Given the description of an element on the screen output the (x, y) to click on. 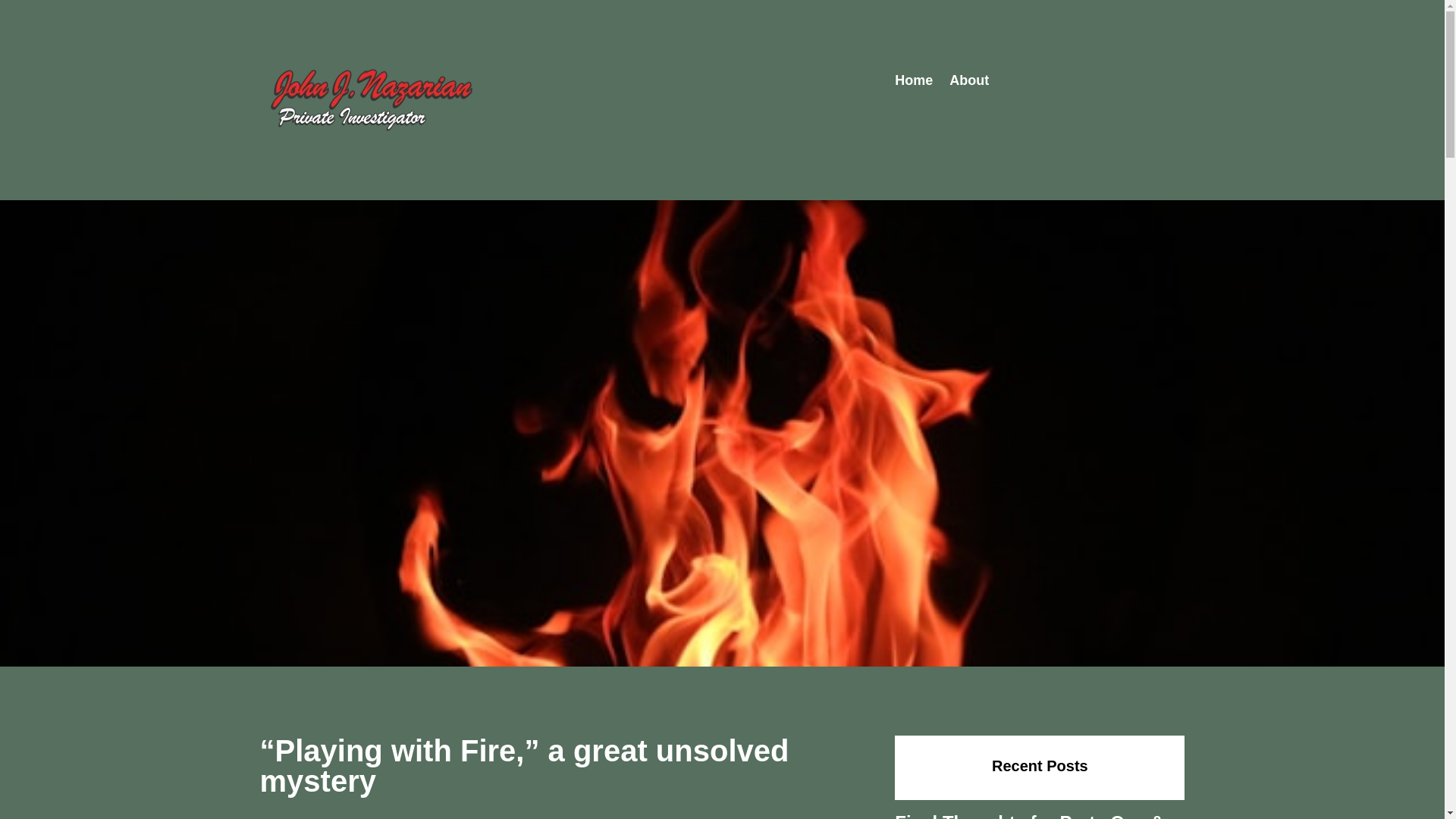
Home (914, 83)
About (968, 83)
